Given the description of an element on the screen output the (x, y) to click on. 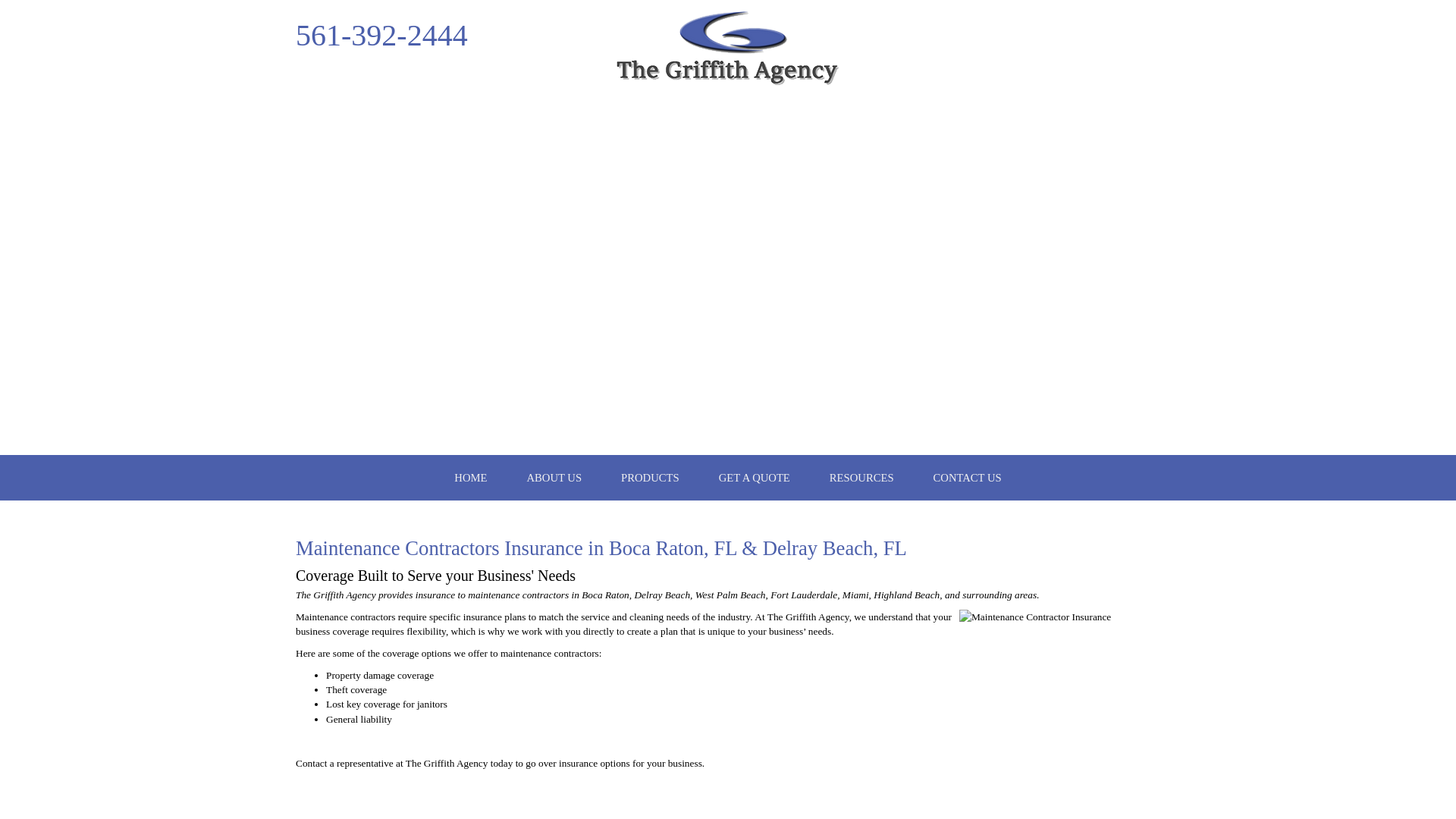
ABOUT US (1056, 683)
PRODUCTS (552, 477)
HOME (650, 477)
561-392-2444 (470, 477)
